Given the description of an element on the screen output the (x, y) to click on. 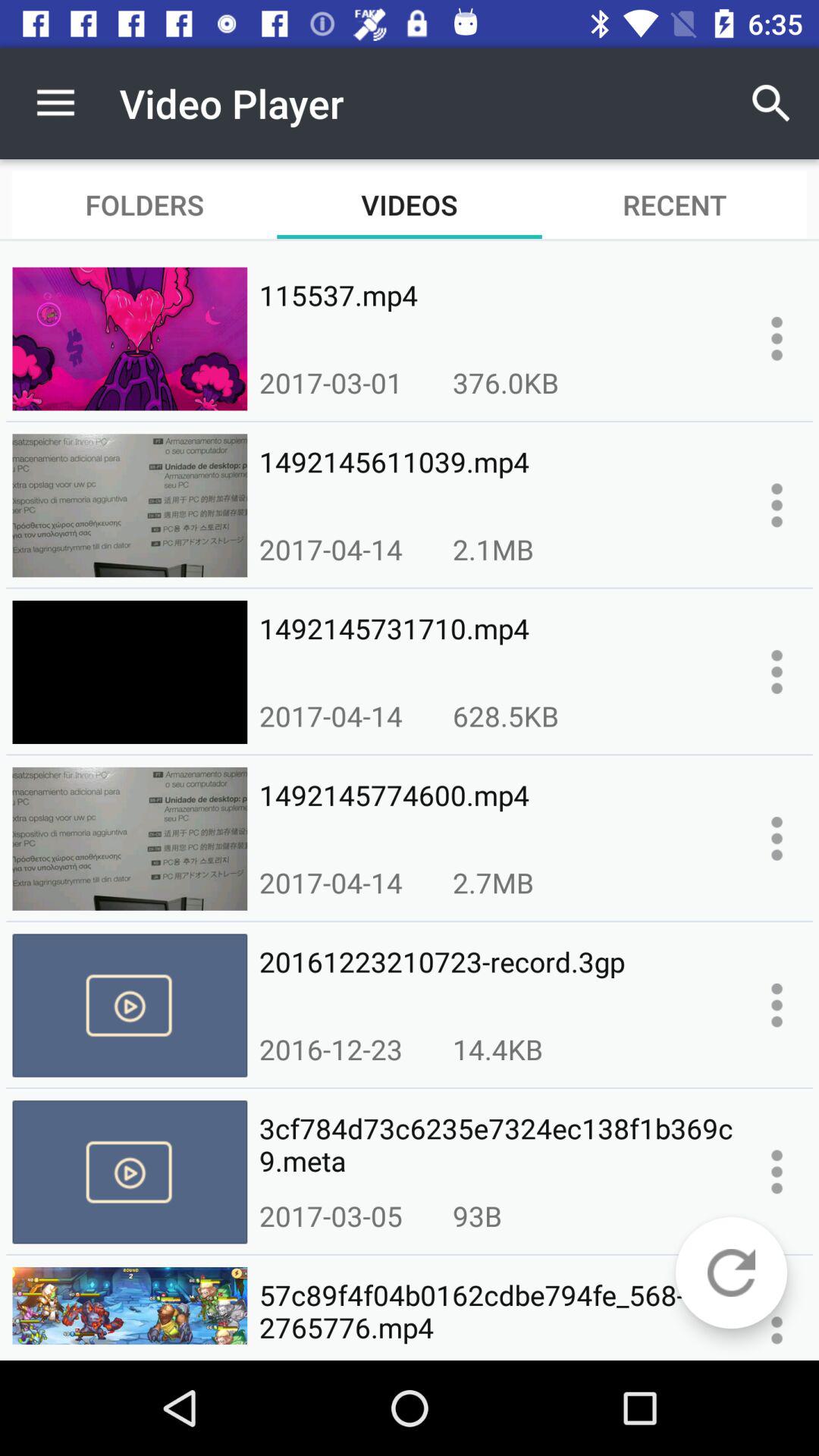
click icon next to 2017-04-14 item (505, 715)
